Given the description of an element on the screen output the (x, y) to click on. 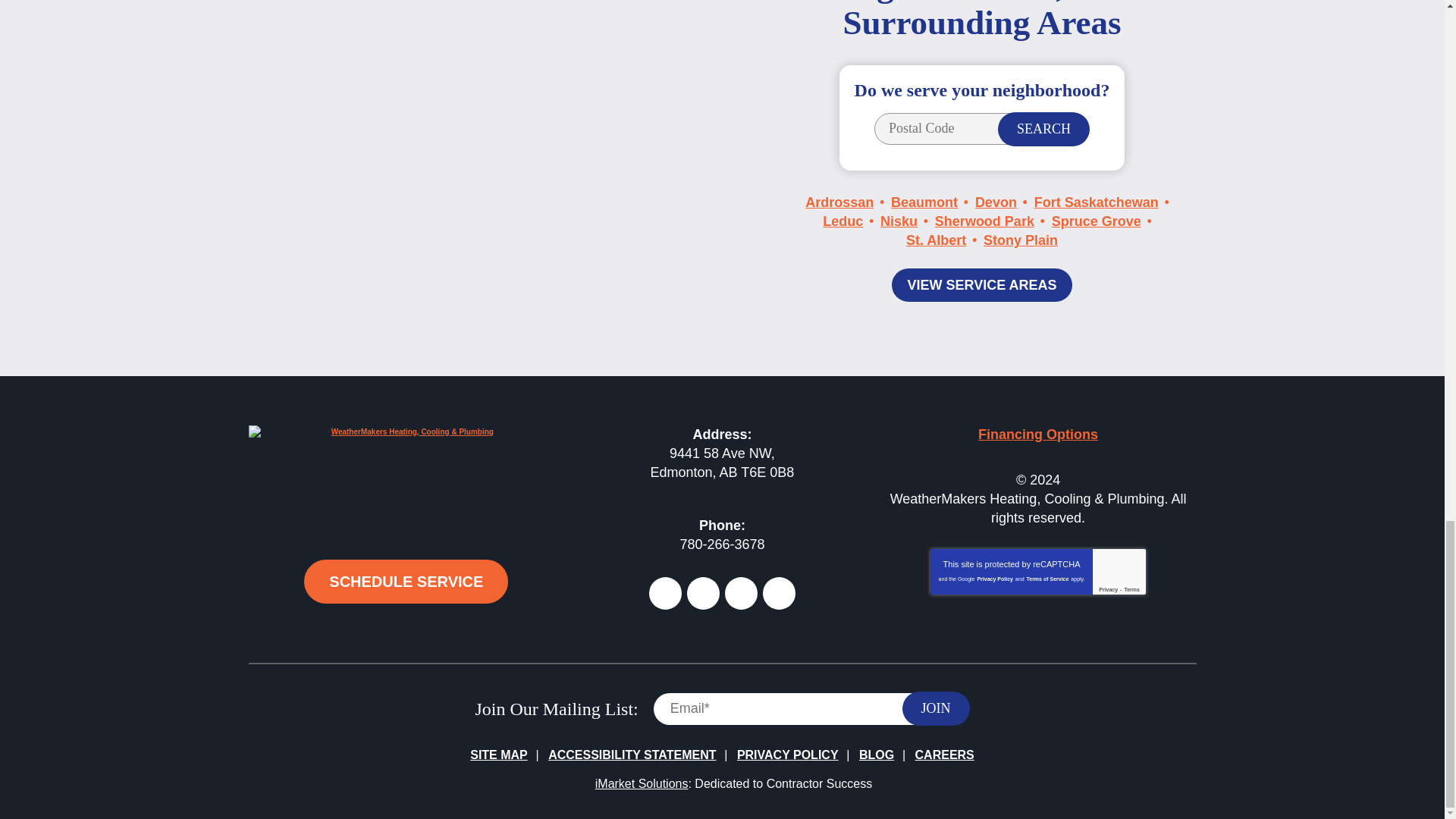
Search (1043, 129)
